Given the description of an element on the screen output the (x, y) to click on. 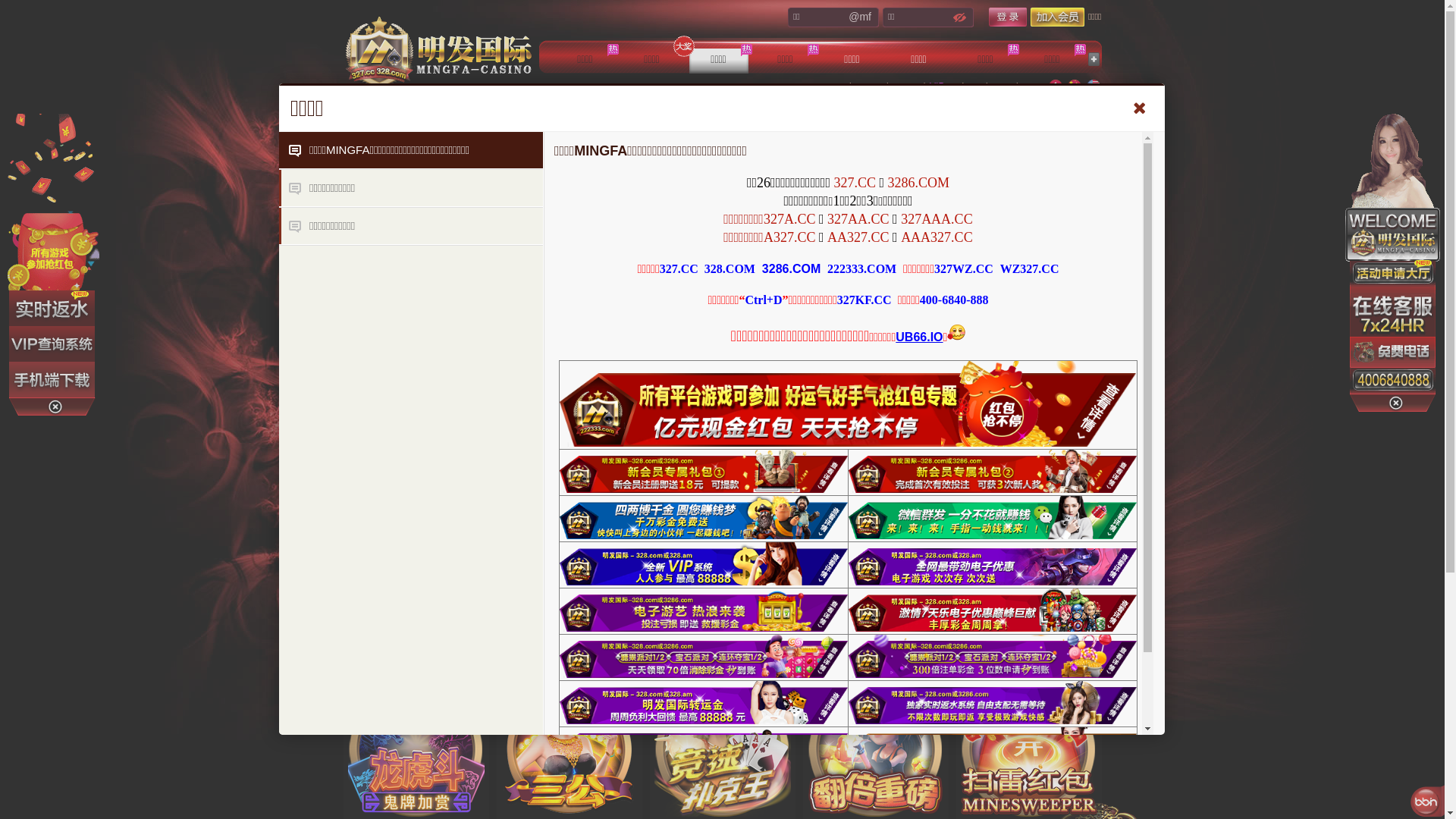
327KF.CC Element type: text (864, 299)
English Element type: hover (1092, 86)
UB66.IO Element type: text (918, 336)
